Given the description of an element on the screen output the (x, y) to click on. 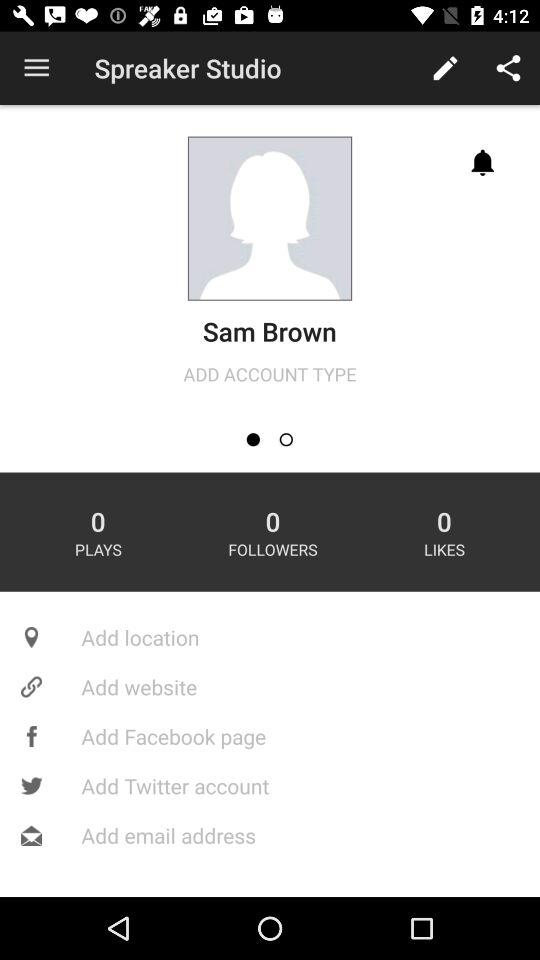
turn on the icon above followers icon (252, 439)
